Given the description of an element on the screen output the (x, y) to click on. 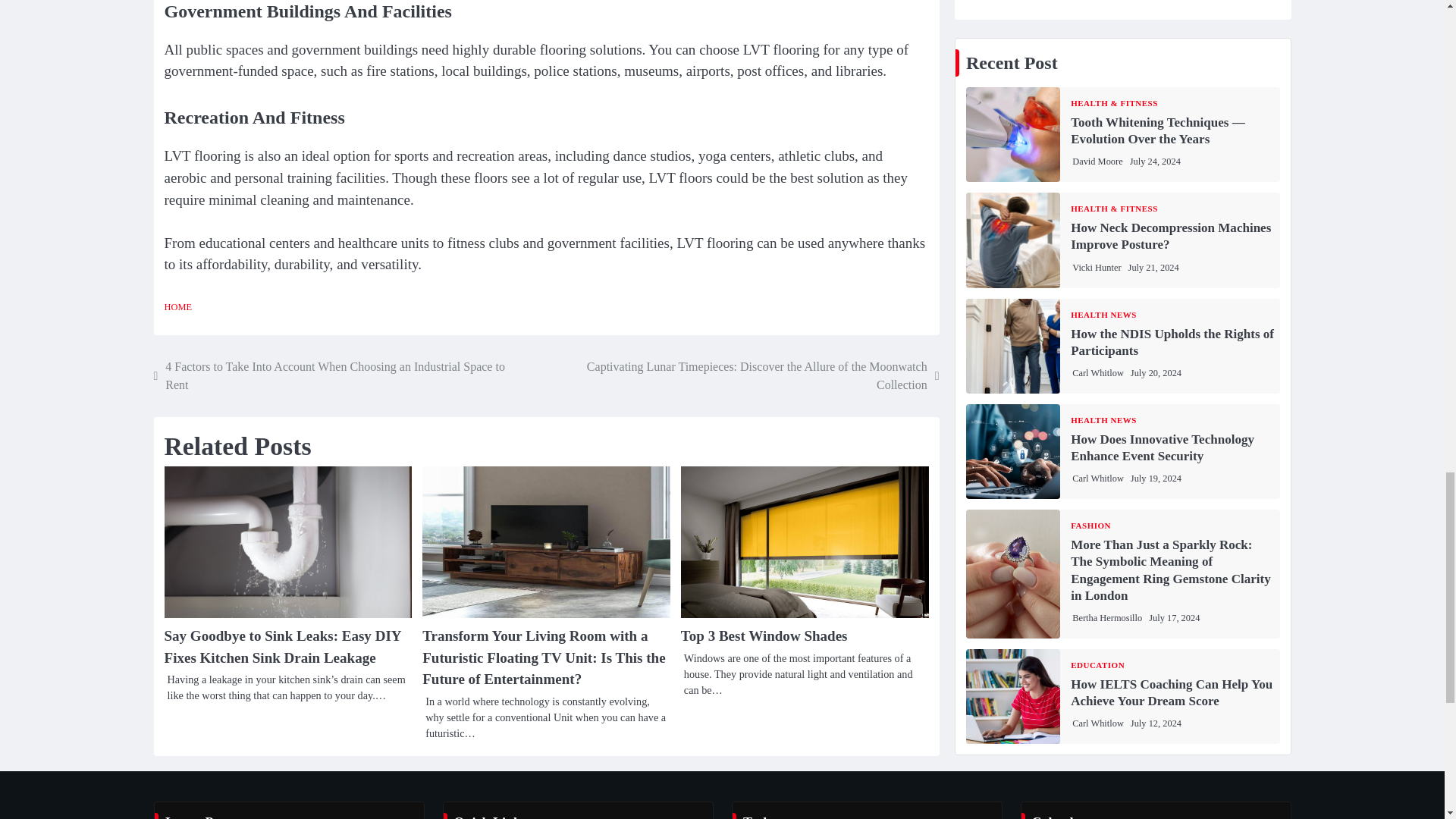
HOME (177, 307)
Top 3 Best Window Shades (764, 635)
